Given the description of an element on the screen output the (x, y) to click on. 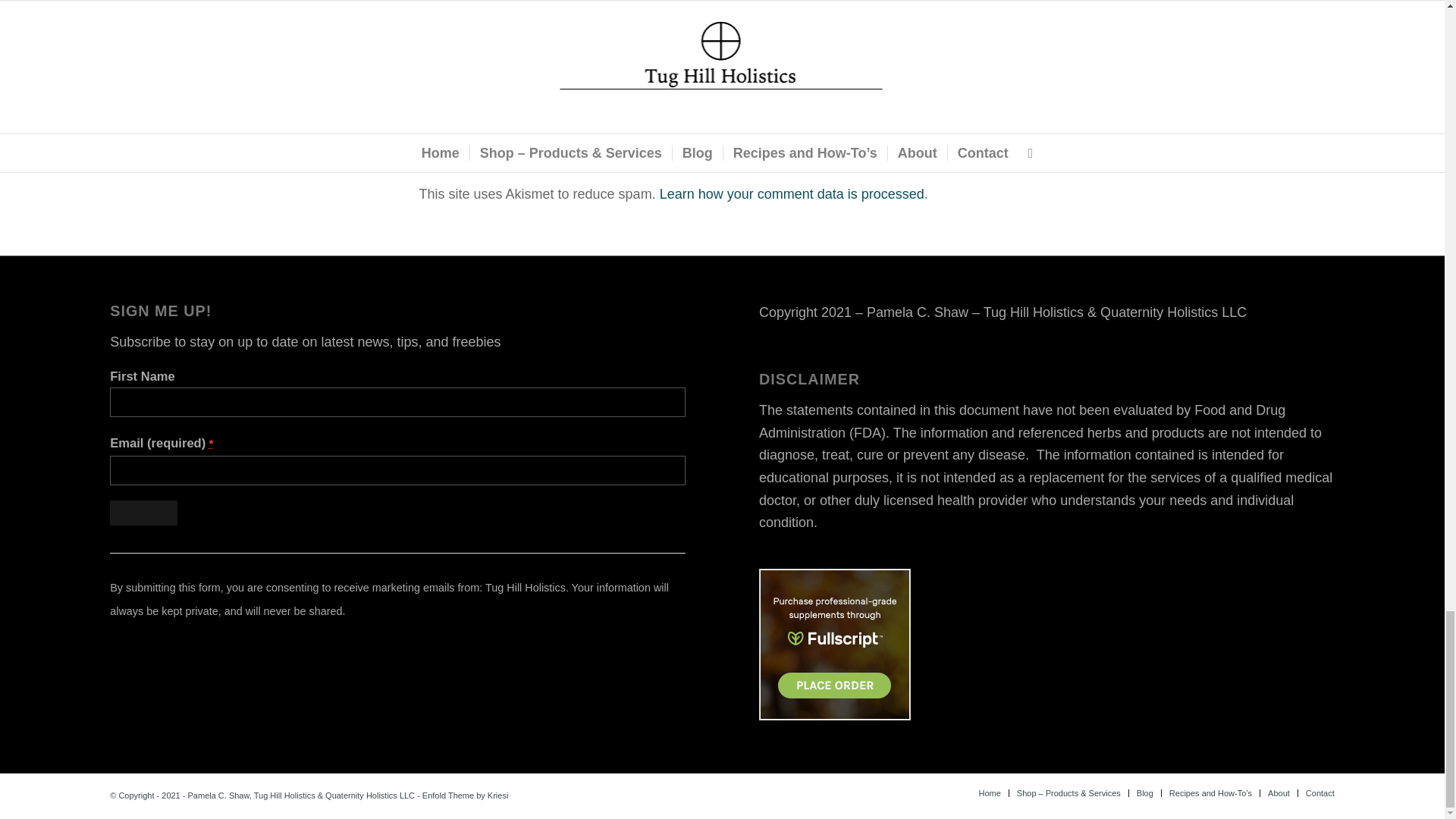
Learn how your comment data is processed (791, 193)
Enfold Theme by Kriesi (465, 795)
Comment Form (722, 80)
Sign up (143, 512)
Sign up (143, 512)
Home (989, 792)
